Given the description of an element on the screen output the (x, y) to click on. 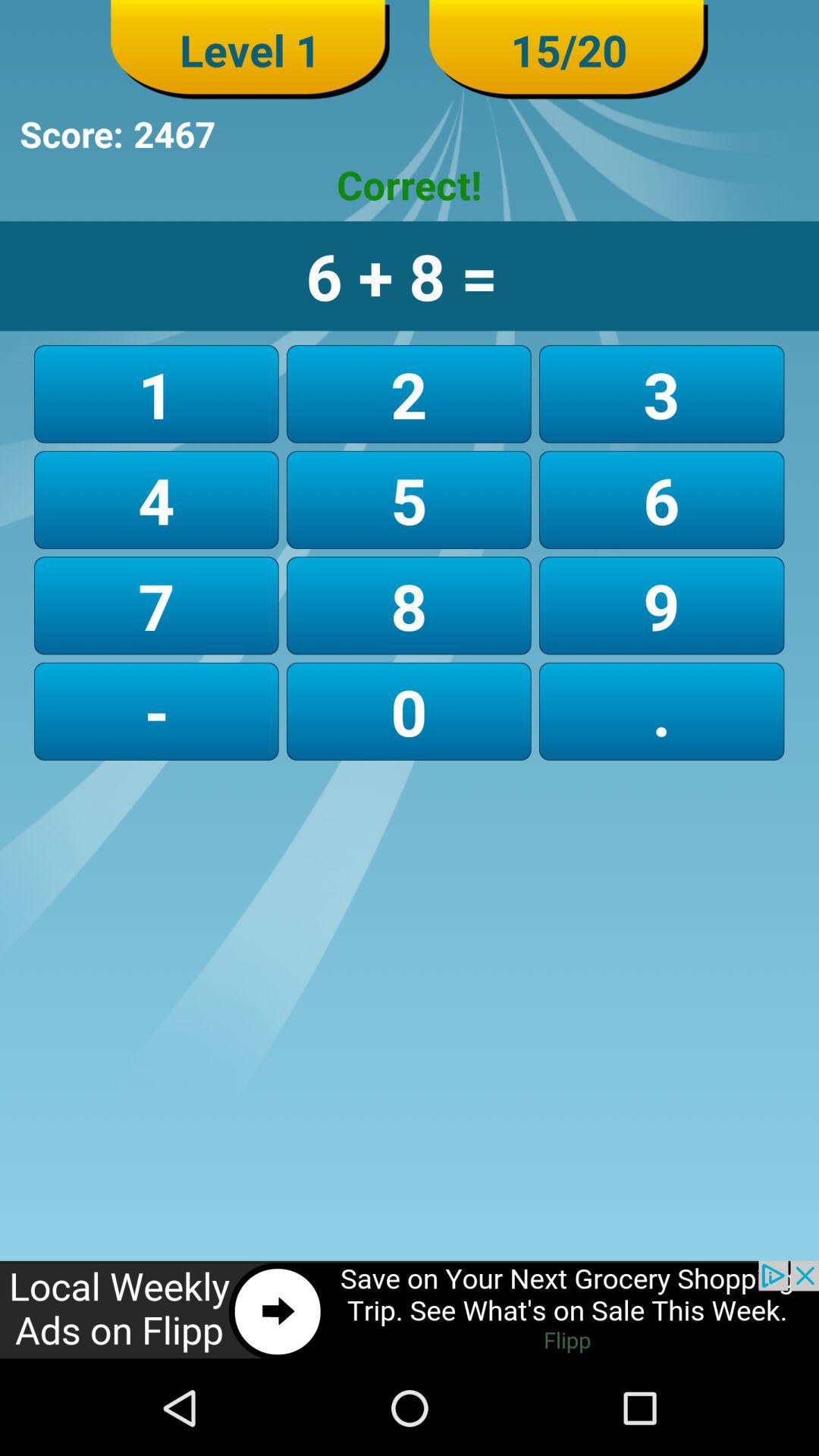
choose the icon next to the 8 item (156, 711)
